Given the description of an element on the screen output the (x, y) to click on. 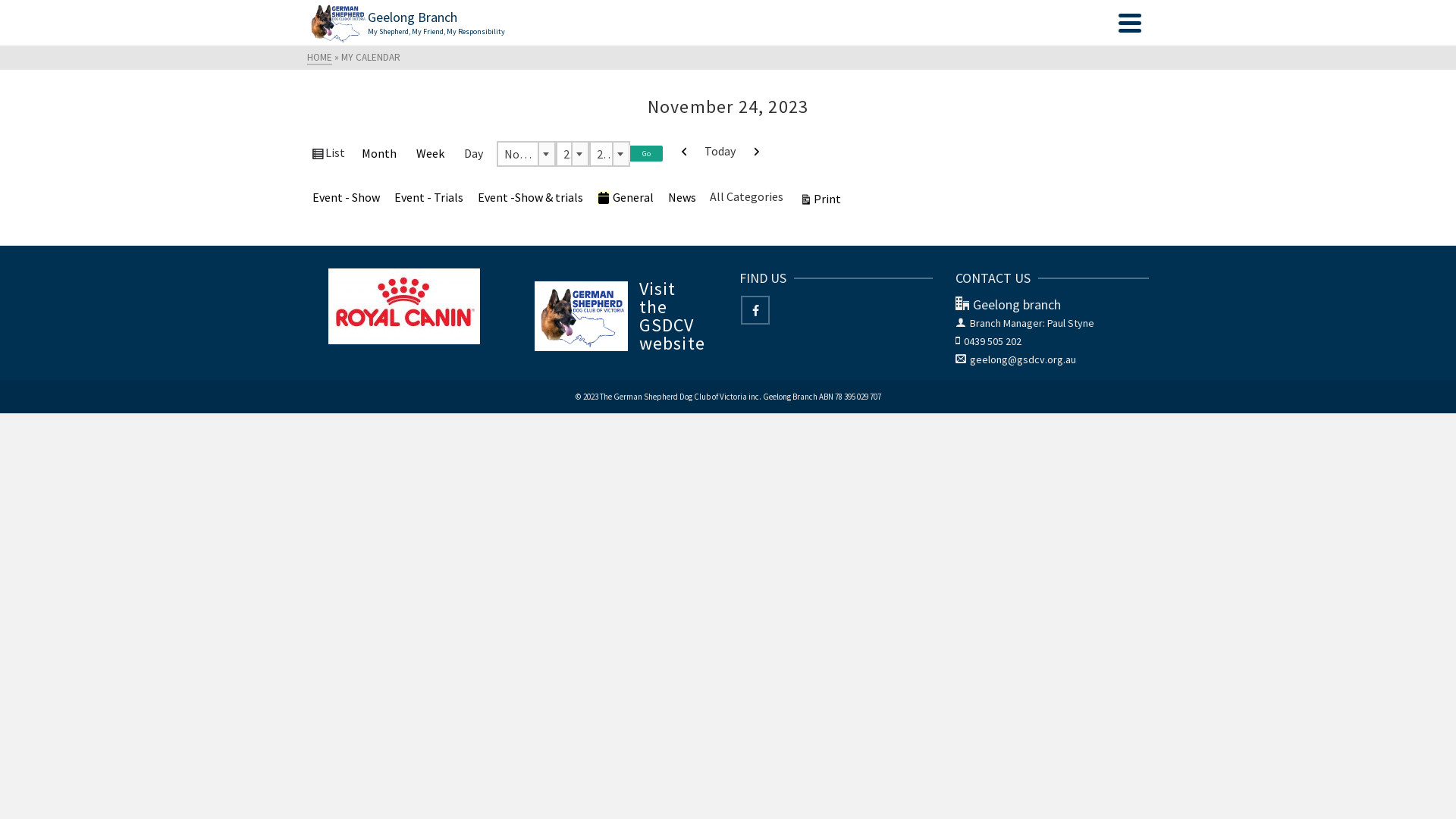
Go Element type: text (646, 153)
Event -Show & trials Element type: text (530, 197)
geelong@gsdcv.org.au Element type: text (1015, 359)
Event - Show Element type: text (346, 197)
News Element type: text (681, 197)
General Element type: text (625, 197)
Next Element type: text (755, 151)
Geelong Branch
My Shepherd, My Friend, My Responsibility Element type: text (708, 22)
Week Element type: text (429, 153)
Event - Trials Element type: text (428, 197)
HOME Element type: text (319, 57)
Visit the GSDCV website Element type: text (619, 316)
Print
View Element type: text (820, 199)
Previous Element type: text (684, 151)
Month Element type: text (379, 153)
